Given the description of an element on the screen output the (x, y) to click on. 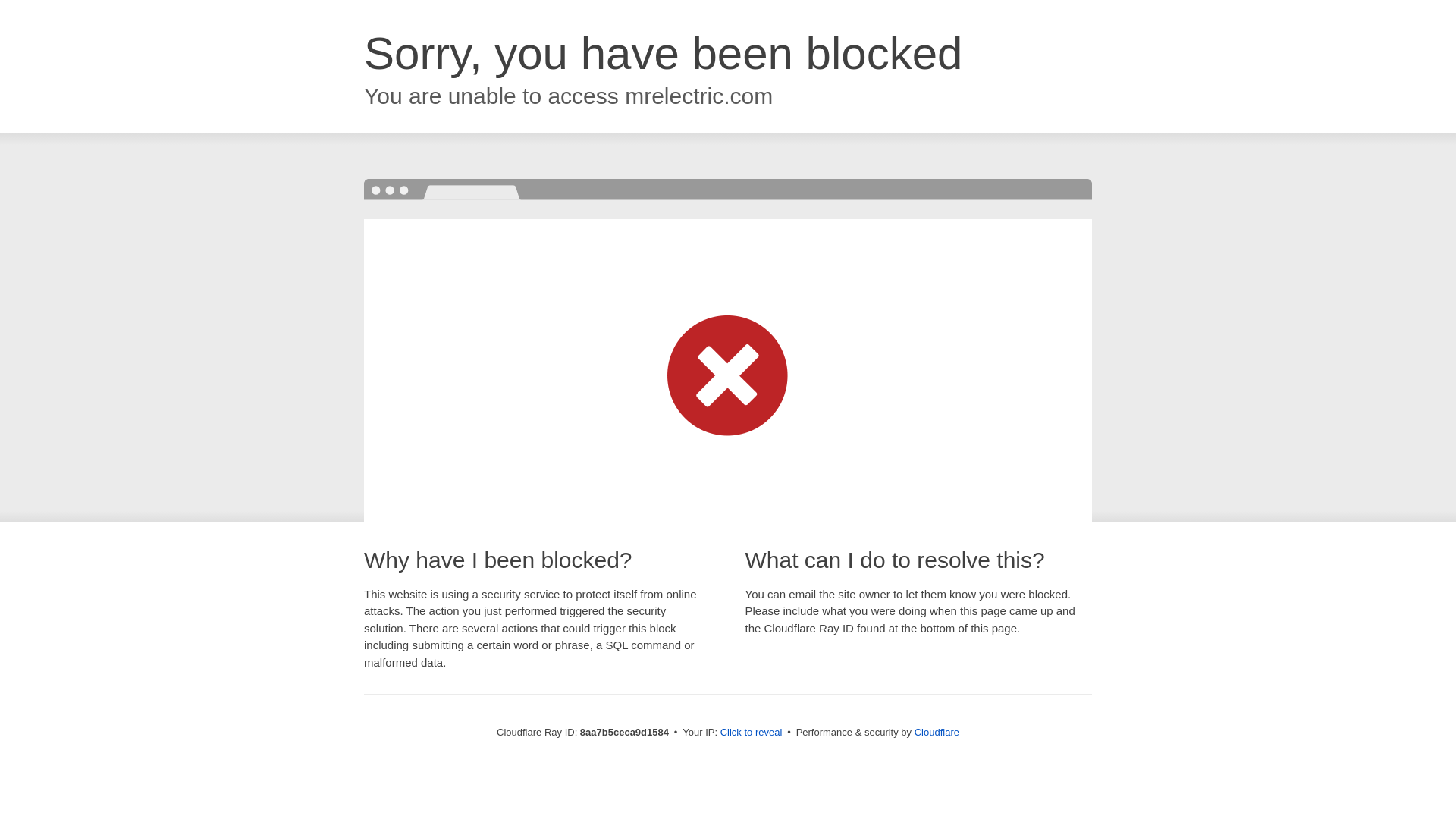
Cloudflare (936, 731)
Click to reveal (751, 732)
